Given the description of an element on the screen output the (x, y) to click on. 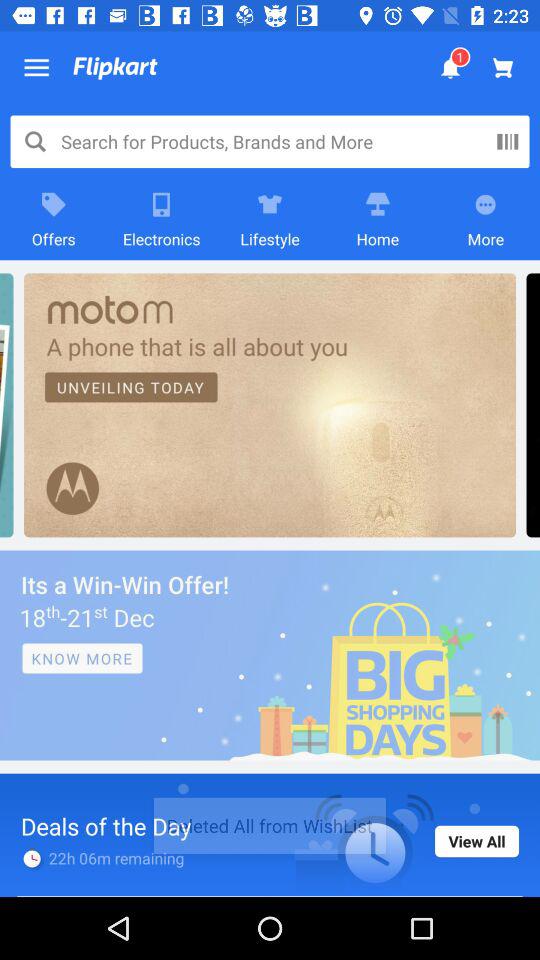
turn on the item next to search for products item (507, 141)
